Given the description of an element on the screen output the (x, y) to click on. 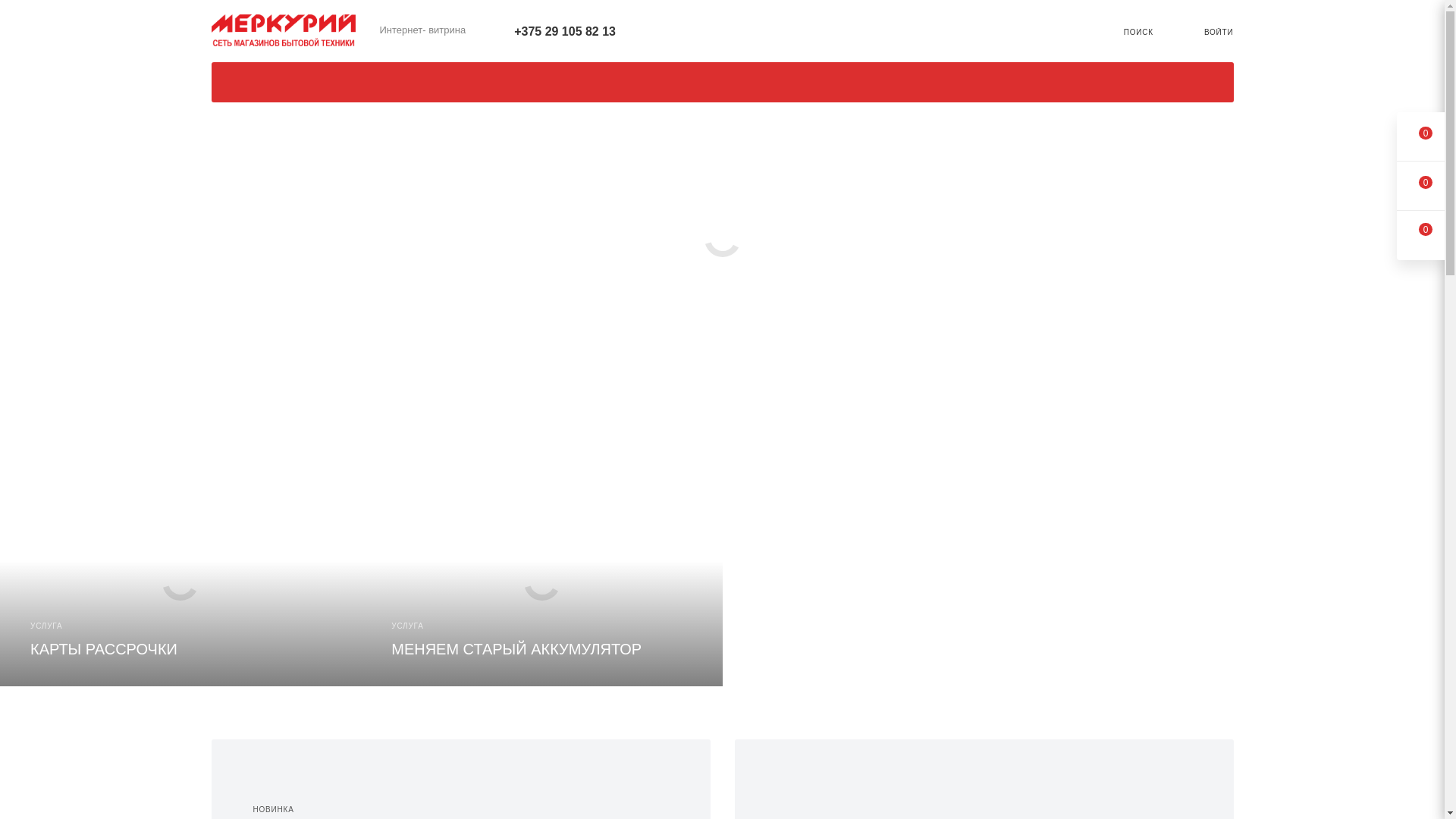
+375 29 105 82 13 Element type: text (564, 30)
